Given the description of an element on the screen output the (x, y) to click on. 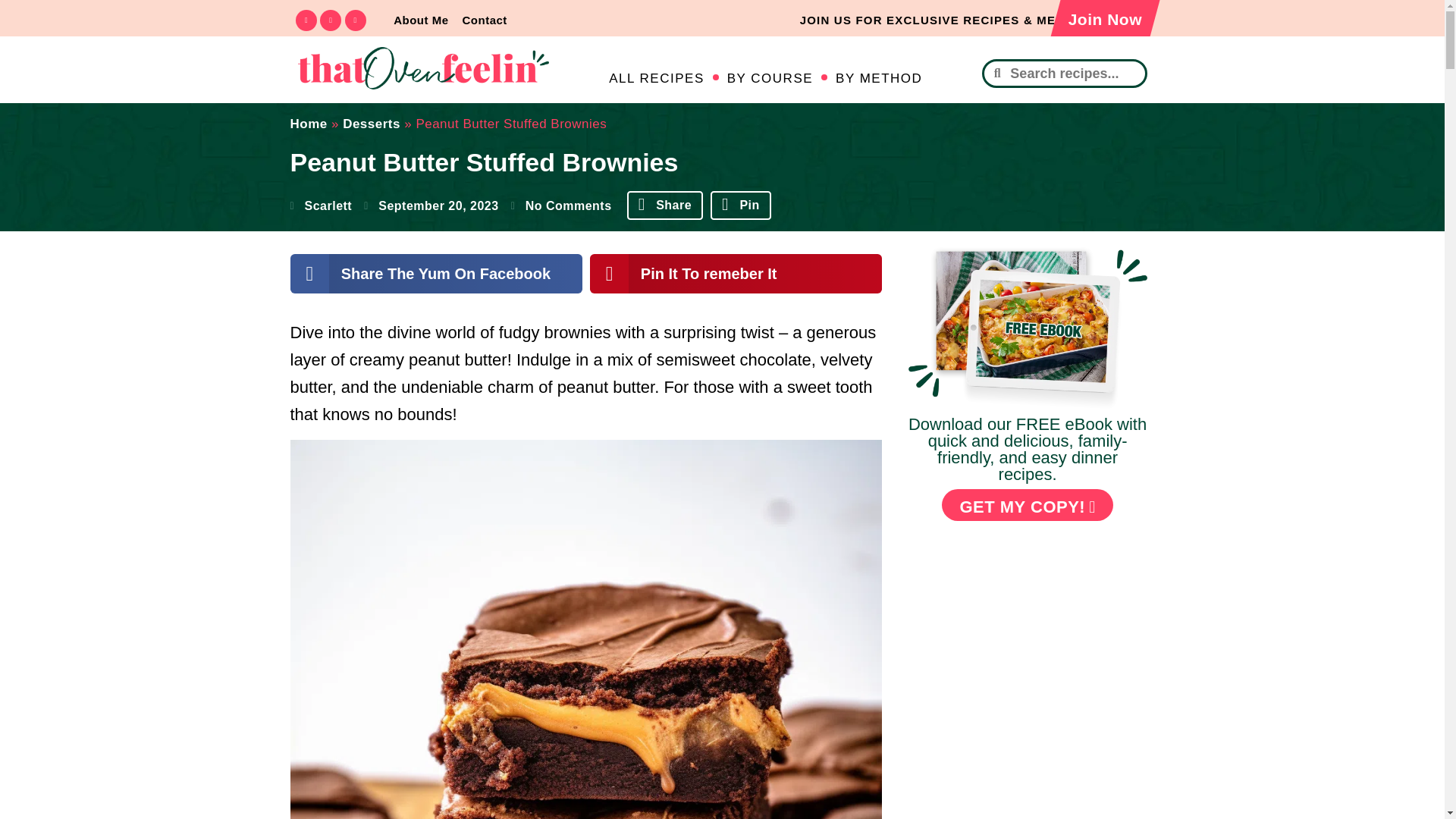
BY METHOD (878, 78)
Contact (483, 20)
BY COURSE (769, 78)
Join Now (1098, 21)
About Me (420, 20)
ALL RECIPES (655, 78)
